Given the description of an element on the screen output the (x, y) to click on. 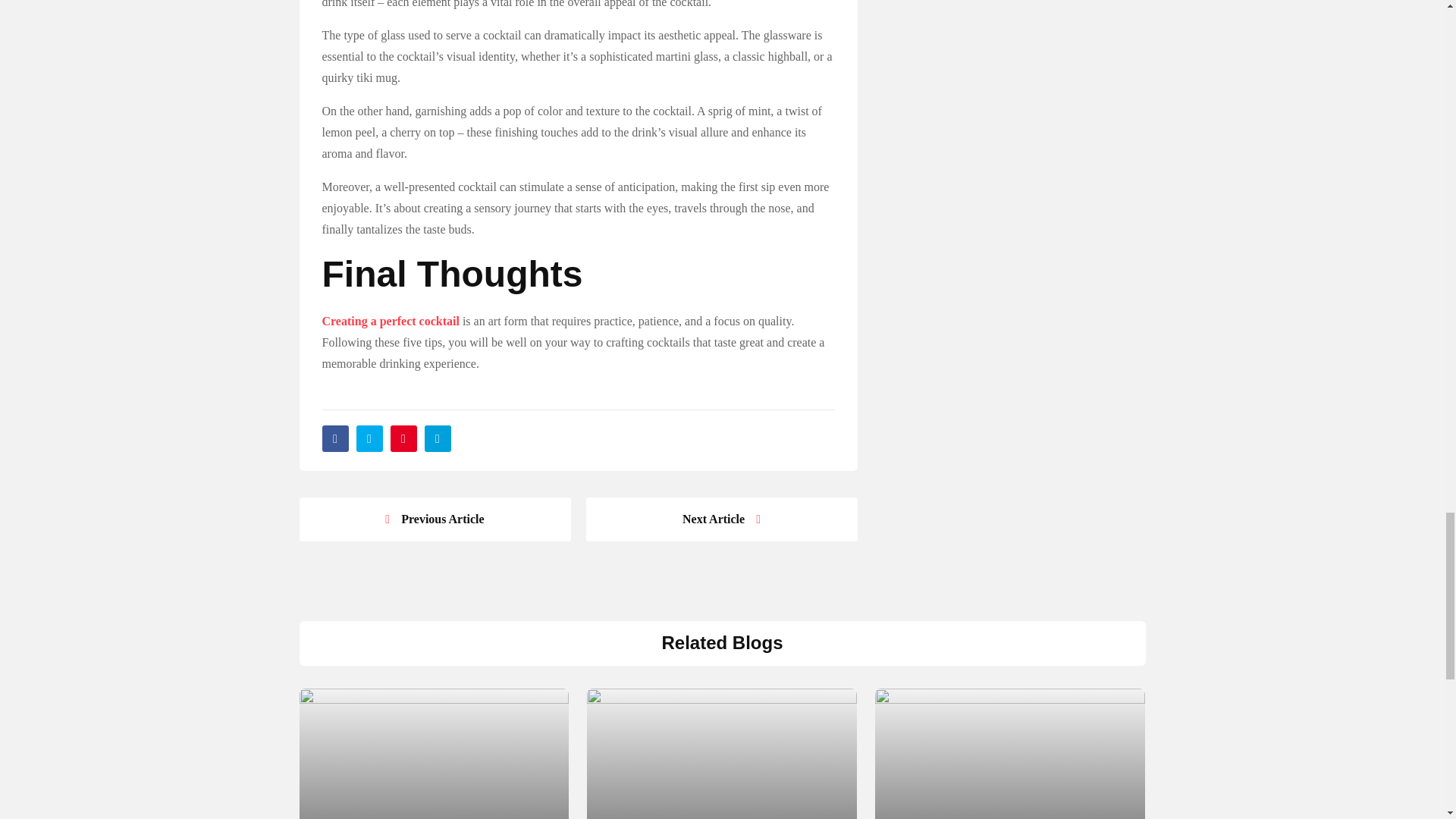
Creating a perfect cocktail (389, 321)
Previous Article (434, 519)
Next Article (721, 519)
